Given the description of an element on the screen output the (x, y) to click on. 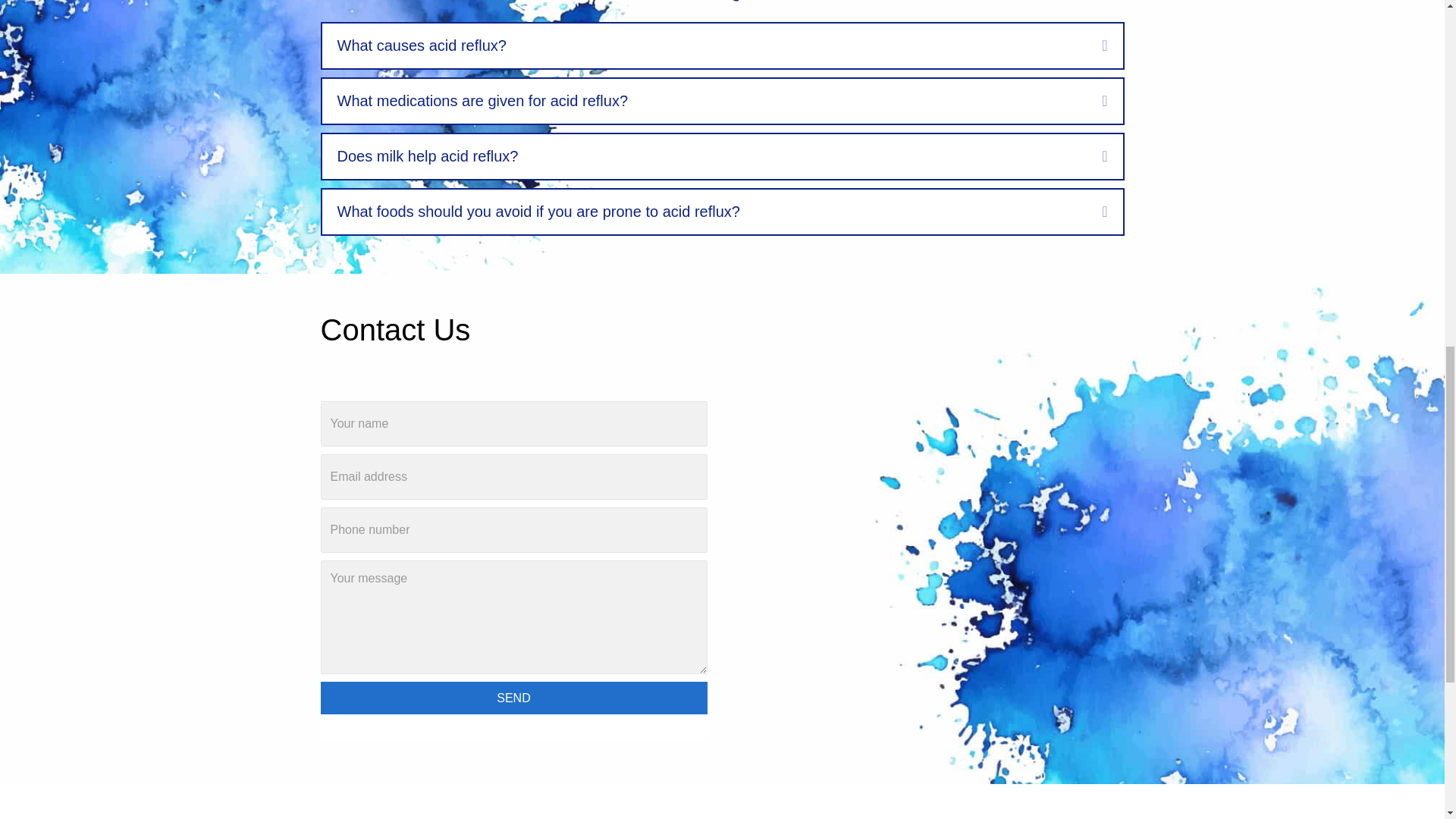
SEND (513, 697)
